Given the description of an element on the screen output the (x, y) to click on. 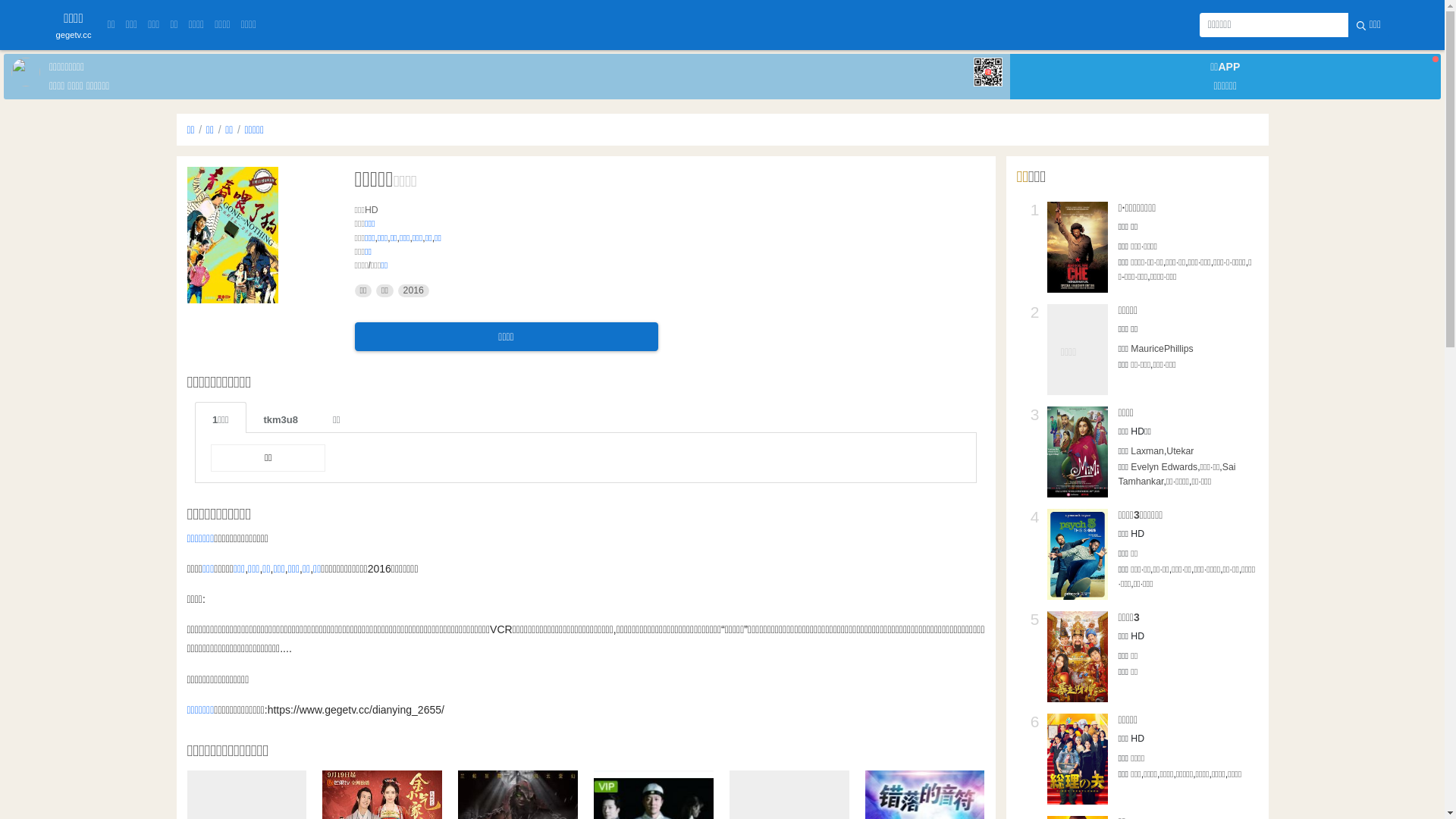
tkm3u8 Element type: text (280, 417)
2016 Element type: text (413, 290)
MauricePhillips Element type: text (1161, 348)
Utekar Element type: text (1179, 450)
Sai Tamhankar Element type: text (1176, 473)
Laxman Element type: text (1147, 450)
Evelyn Edwards Element type: text (1163, 466)
